Given the description of an element on the screen output the (x, y) to click on. 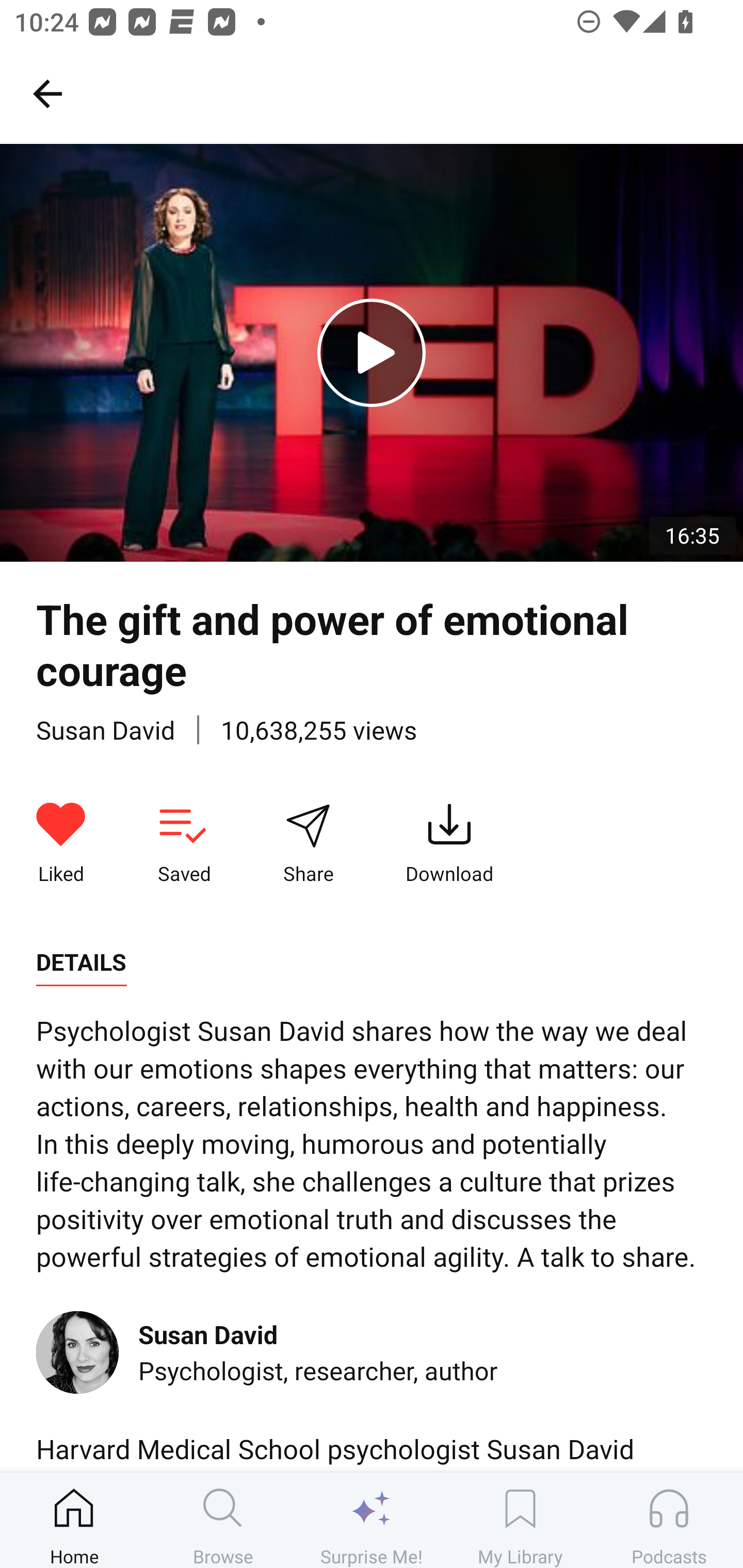
Home, back (47, 92)
Liked (60, 843)
Saved (183, 843)
Share (308, 843)
Download (449, 843)
DETAILS (80, 962)
Home (74, 1520)
Browse (222, 1520)
Surprise Me! (371, 1520)
My Library (519, 1520)
Podcasts (668, 1520)
